Given the description of an element on the screen output the (x, y) to click on. 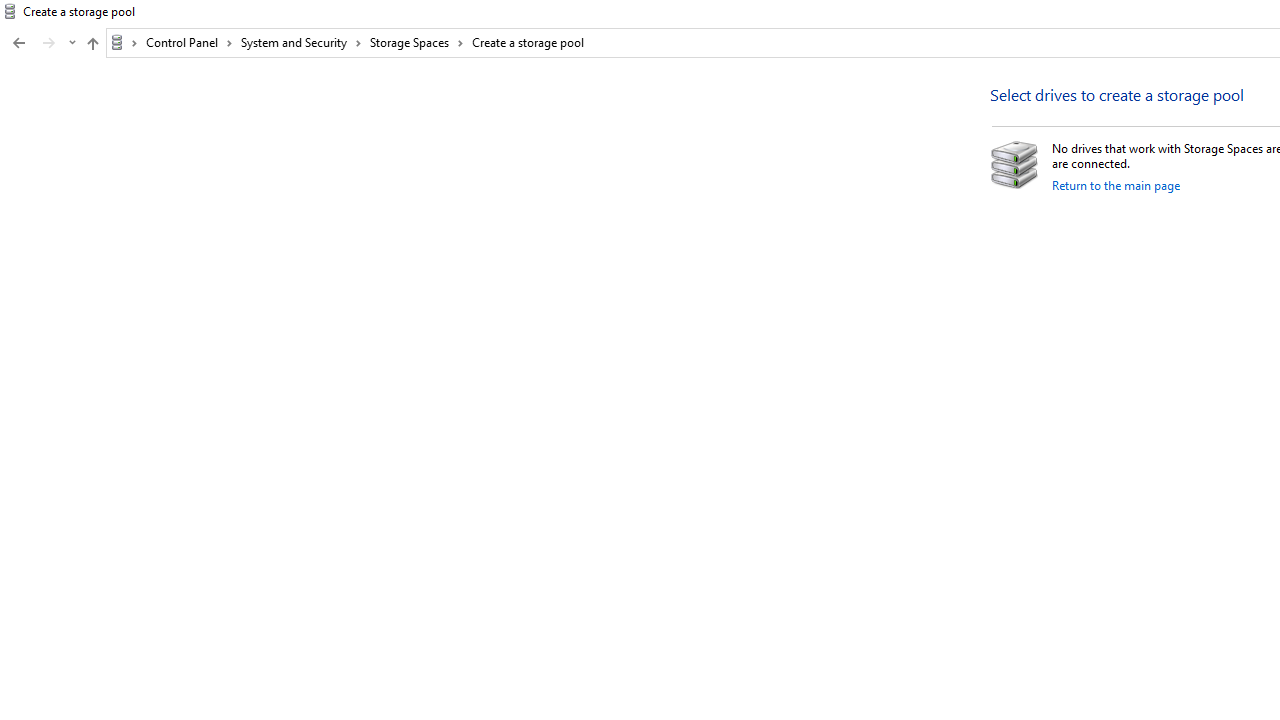
Recent locations (71, 43)
System and Security (301, 42)
Forward (Alt + Right Arrow) (49, 43)
Back to Storage Spaces (Alt + Left Arrow) (18, 43)
System (10, 11)
Storage Spaces (417, 42)
All locations (124, 42)
Control Panel (189, 42)
Return to the main page (1116, 184)
Up band toolbar (92, 46)
System (10, 11)
Navigation buttons (41, 43)
Up to "Storage Spaces" (Alt + Up Arrow) (92, 43)
Create a storage pool (527, 42)
